Given the description of an element on the screen output the (x, y) to click on. 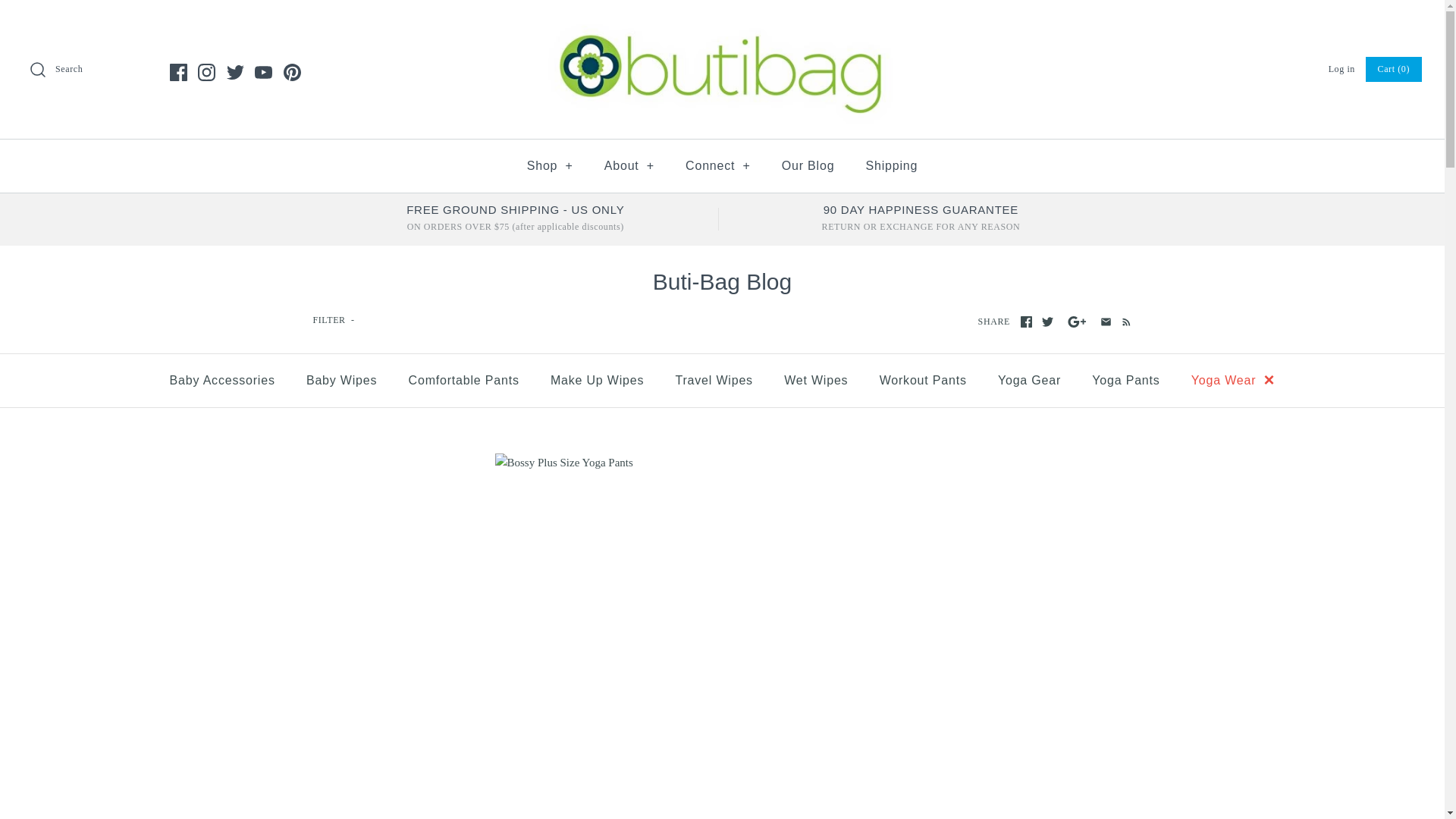
Twitter (234, 72)
GOOGLEPLUS (1077, 321)
Facebook (178, 72)
Pinterest (292, 72)
Show articles tagged baby wipes (341, 380)
FACEBOOK (1026, 321)
EMAIL (1106, 321)
Our Blog (808, 166)
Share using email (1106, 321)
Pinterest (292, 72)
